Given the description of an element on the screen output the (x, y) to click on. 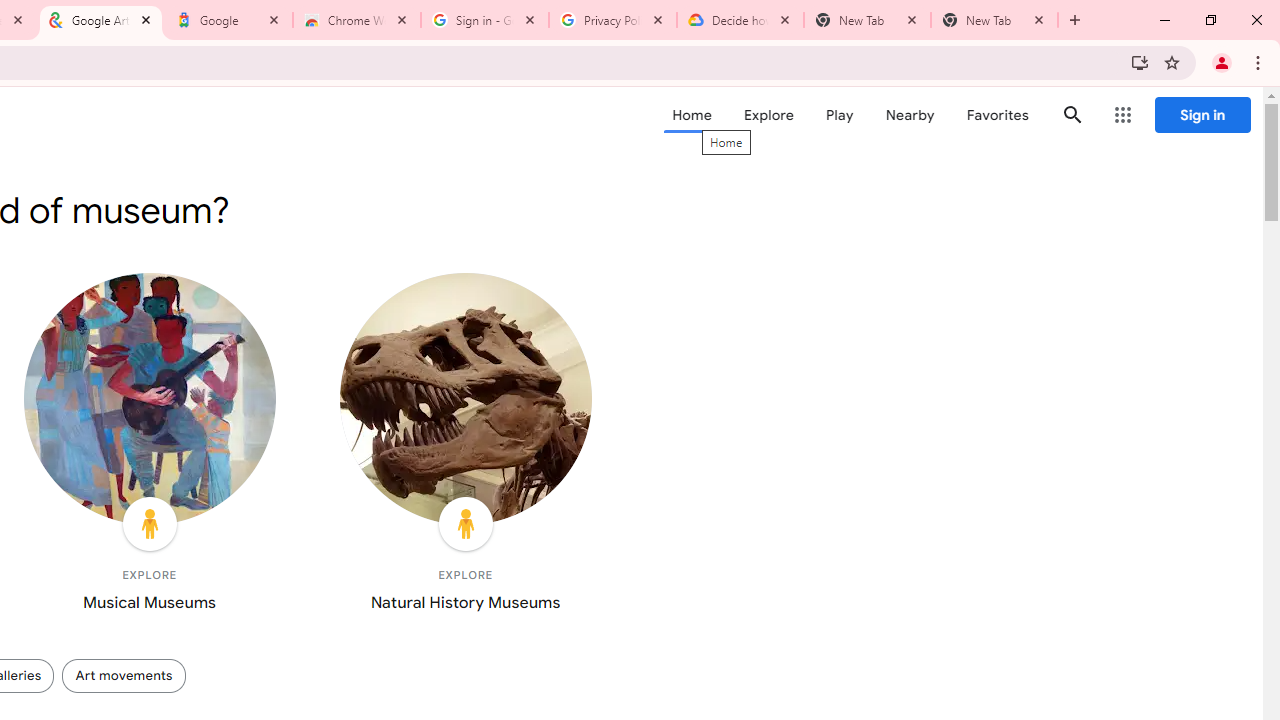
EXPLORE Natural History Museums (465, 447)
Google (229, 20)
Favorites (996, 115)
Sign in - Google Accounts (485, 20)
Play (840, 115)
Nearby (910, 115)
Art movements (123, 675)
